Given the description of an element on the screen output the (x, y) to click on. 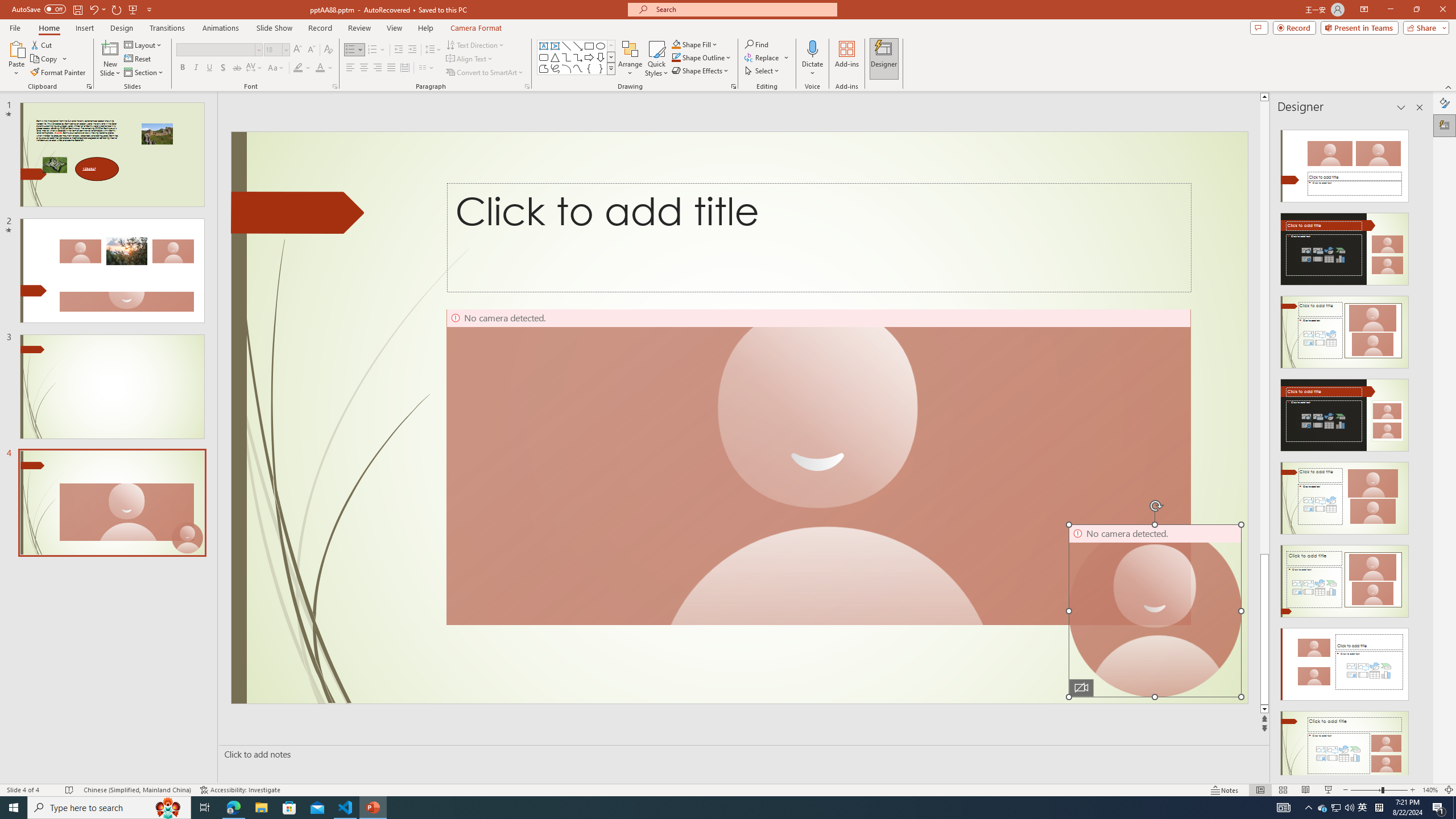
Design Idea (1344, 743)
Camera Format (475, 28)
